Given the description of an element on the screen output the (x, y) to click on. 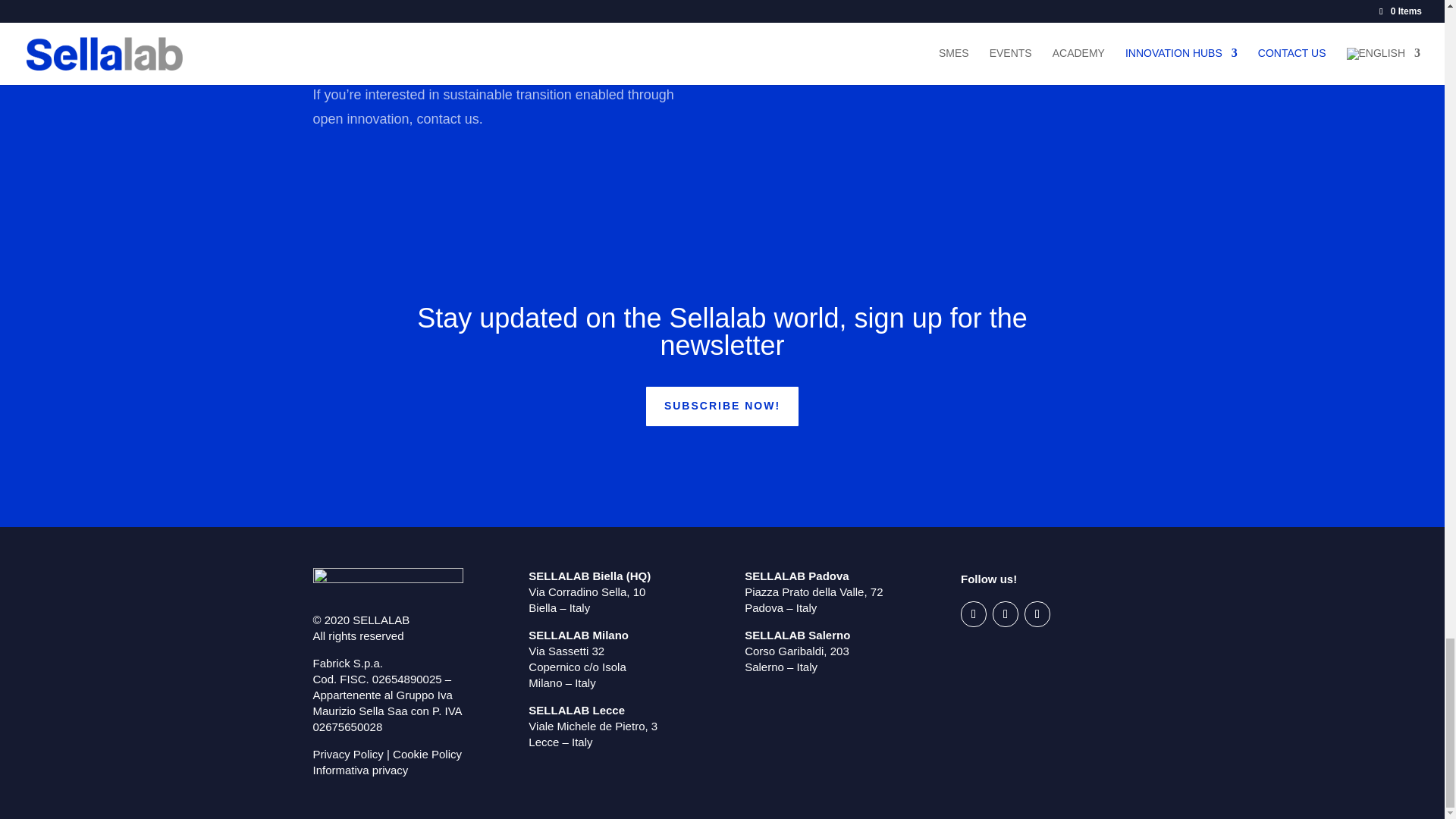
SUBSCRIBE NOW! (721, 405)
Informativa privacy (360, 769)
Follow on Facebook (1037, 614)
Privacy Policy (347, 753)
Follow on LinkedIn (973, 614)
Cookie Policy (427, 753)
Follow on Instagram (1004, 614)
